Given the description of an element on the screen output the (x, y) to click on. 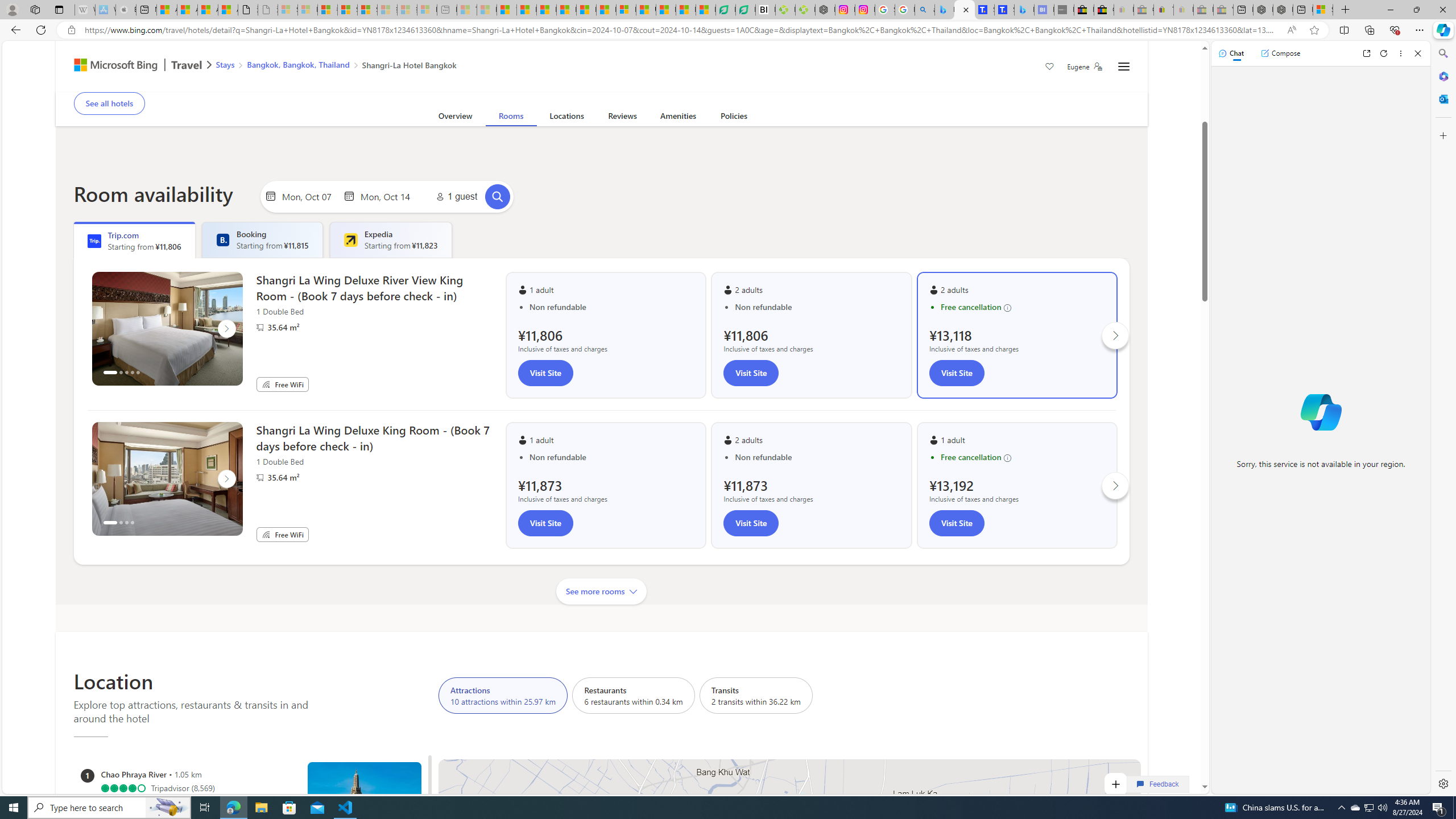
Save (1049, 67)
Non refundable (817, 457)
alabama high school quarterback dies - Search (924, 9)
Aberdeen, Hong Kong SAR weather forecast | Microsoft Weather (186, 9)
Threats and offensive language policy | eBay (1162, 9)
Amenities (678, 118)
Expedia (350, 239)
See all hotels (108, 102)
AutomationID: bread-crumb-root (329, 66)
